Given the description of an element on the screen output the (x, y) to click on. 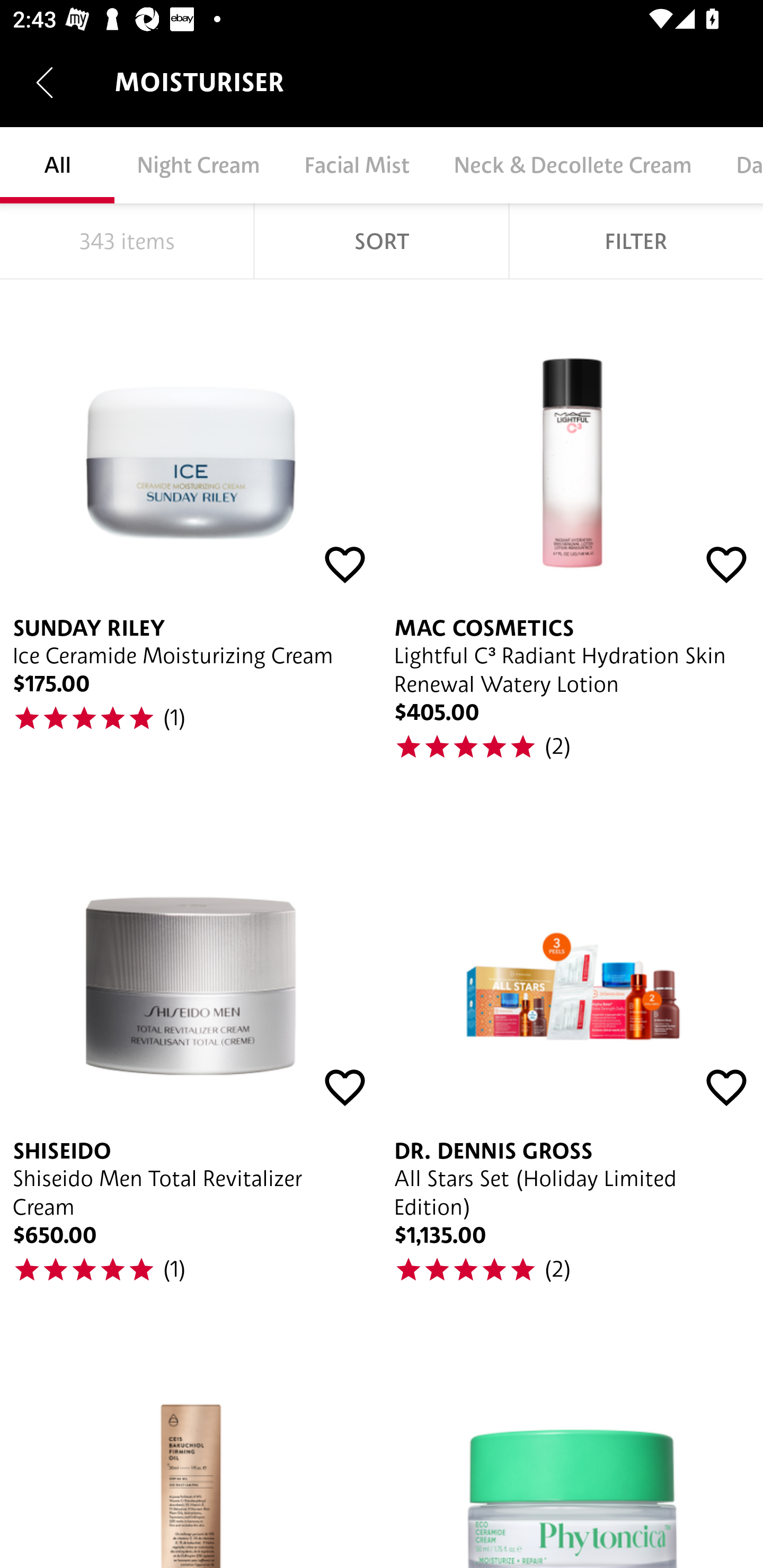
Navigate up (44, 82)
Night Cream (197, 165)
Facial Mist (356, 165)
Neck & Decollete Cream (572, 165)
SORT (381, 241)
FILTER (636, 241)
